Given the description of an element on the screen output the (x, y) to click on. 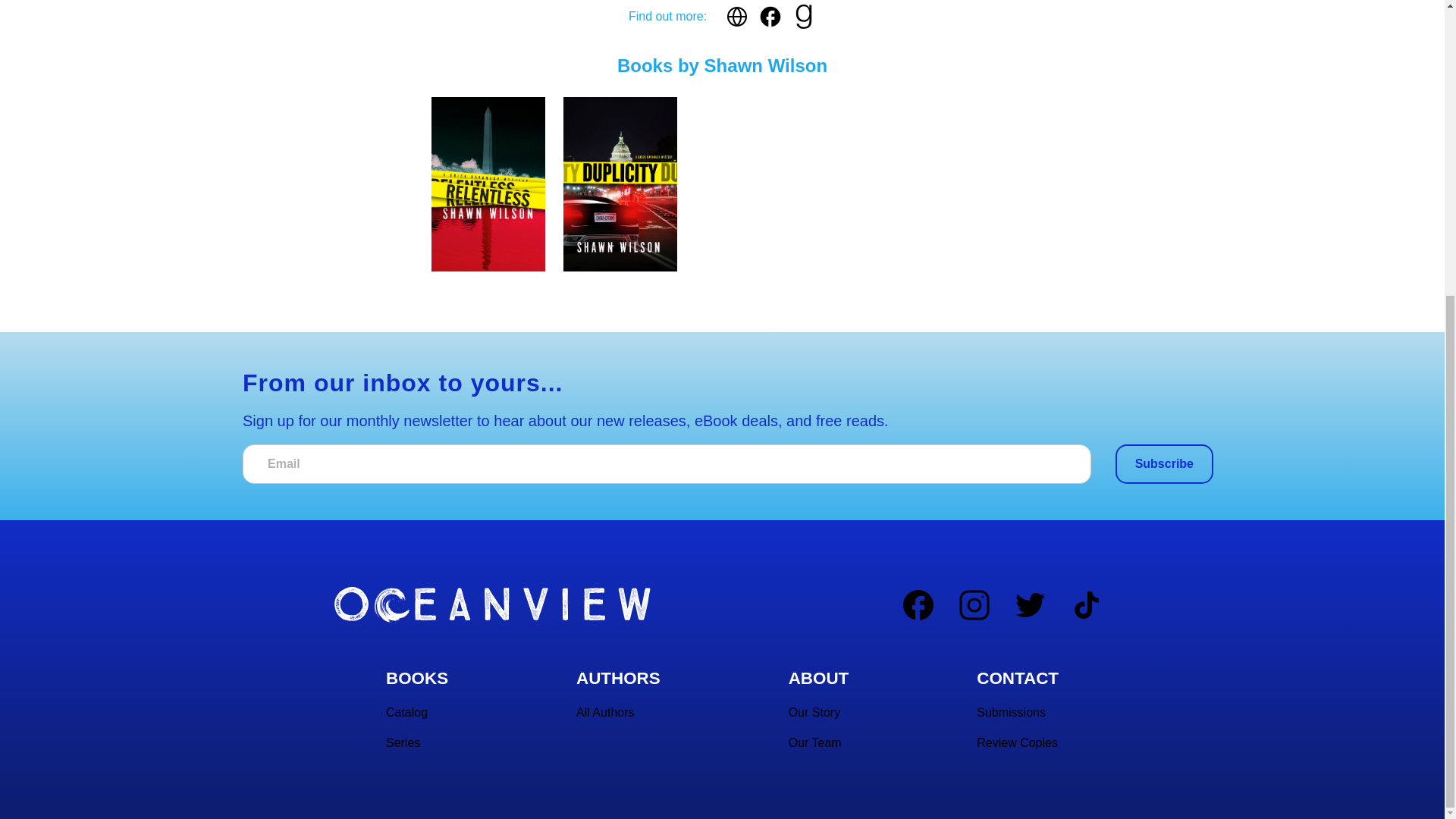
Subscribe (1163, 464)
Catalog (406, 712)
Review Copies (1017, 743)
Our Story (814, 712)
Submissions (1010, 712)
Our Team (815, 743)
Subscribe (1163, 464)
All Authors (604, 712)
Series (402, 743)
